Given the description of an element on the screen output the (x, y) to click on. 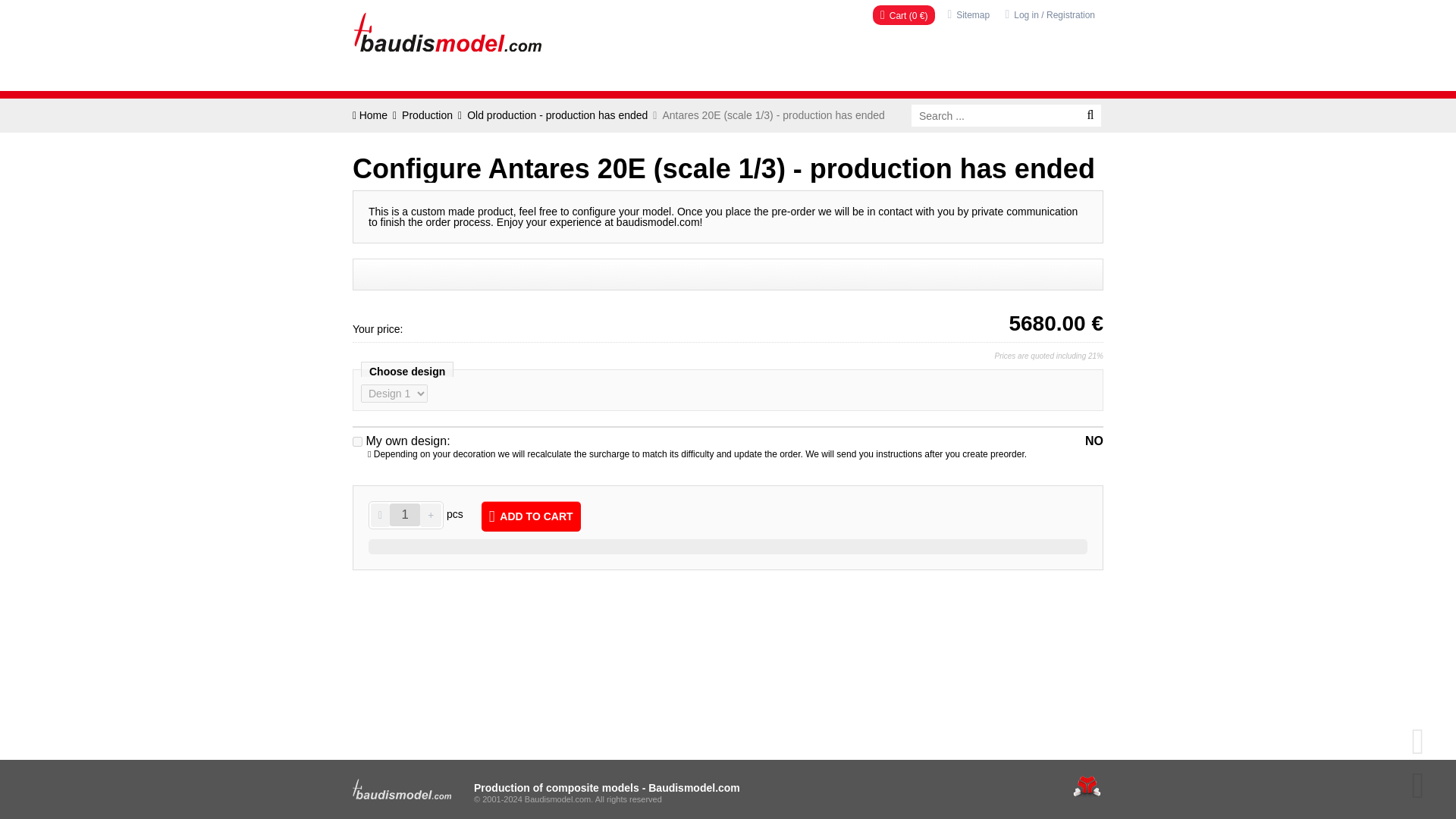
Sitemap (968, 13)
on (357, 441)
Old production - production has ended (555, 115)
1 (405, 514)
Sitemap (968, 13)
Production (425, 115)
Home (372, 115)
Home (446, 31)
Home (446, 31)
ADD TO CART (530, 516)
